Given the description of an element on the screen output the (x, y) to click on. 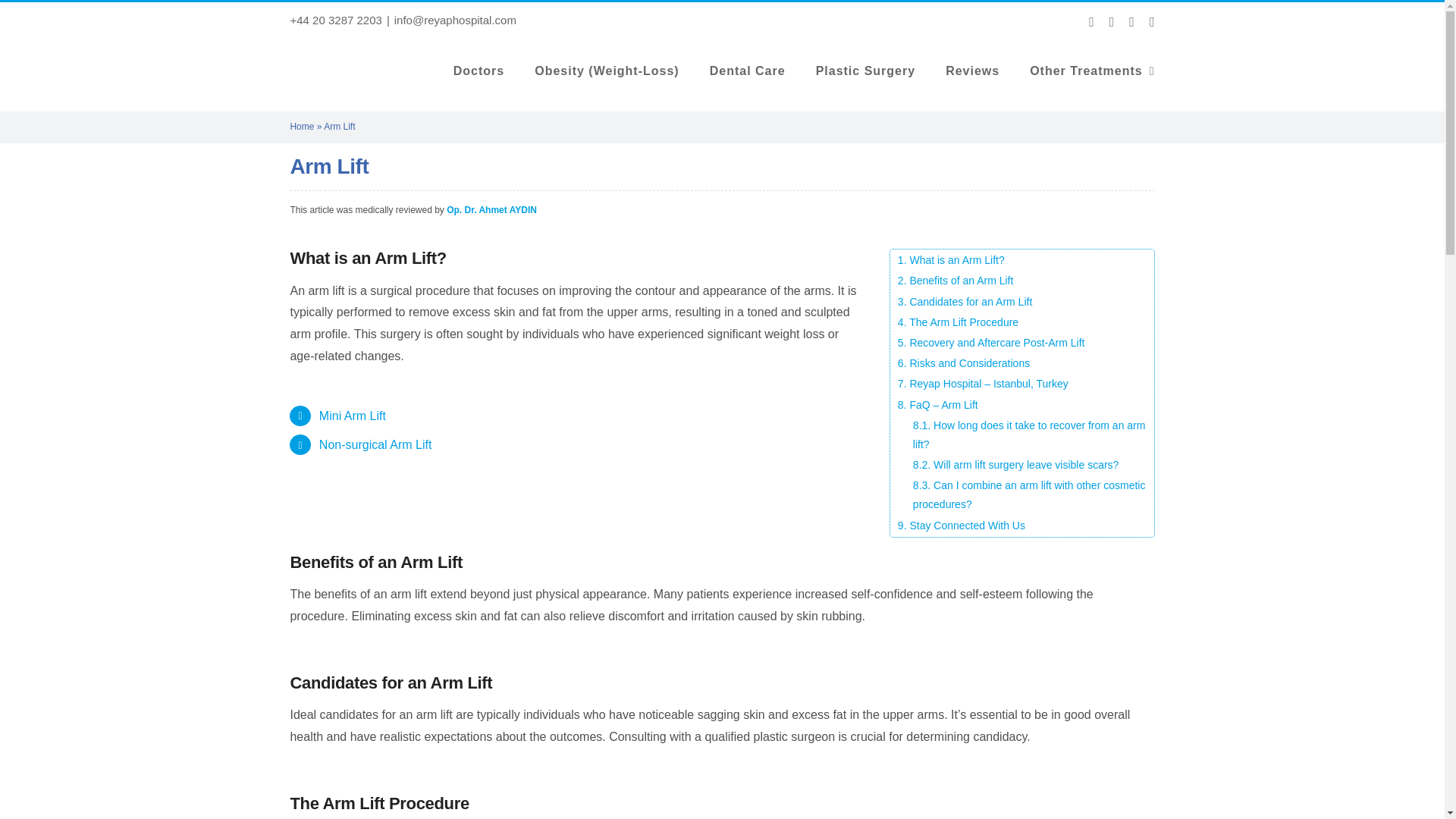
Non-surgical Arm Lift (375, 444)
Op. Dr. Ahmet AYDIN (491, 209)
Mini Arm Lift (351, 415)
Home (301, 126)
Other Treatments (1091, 71)
Plastic Surgery (865, 71)
Dental Care (748, 71)
Benefits of an Arm Lift (1021, 280)
What is an Arm Lift? (1021, 260)
